Given the description of an element on the screen output the (x, y) to click on. 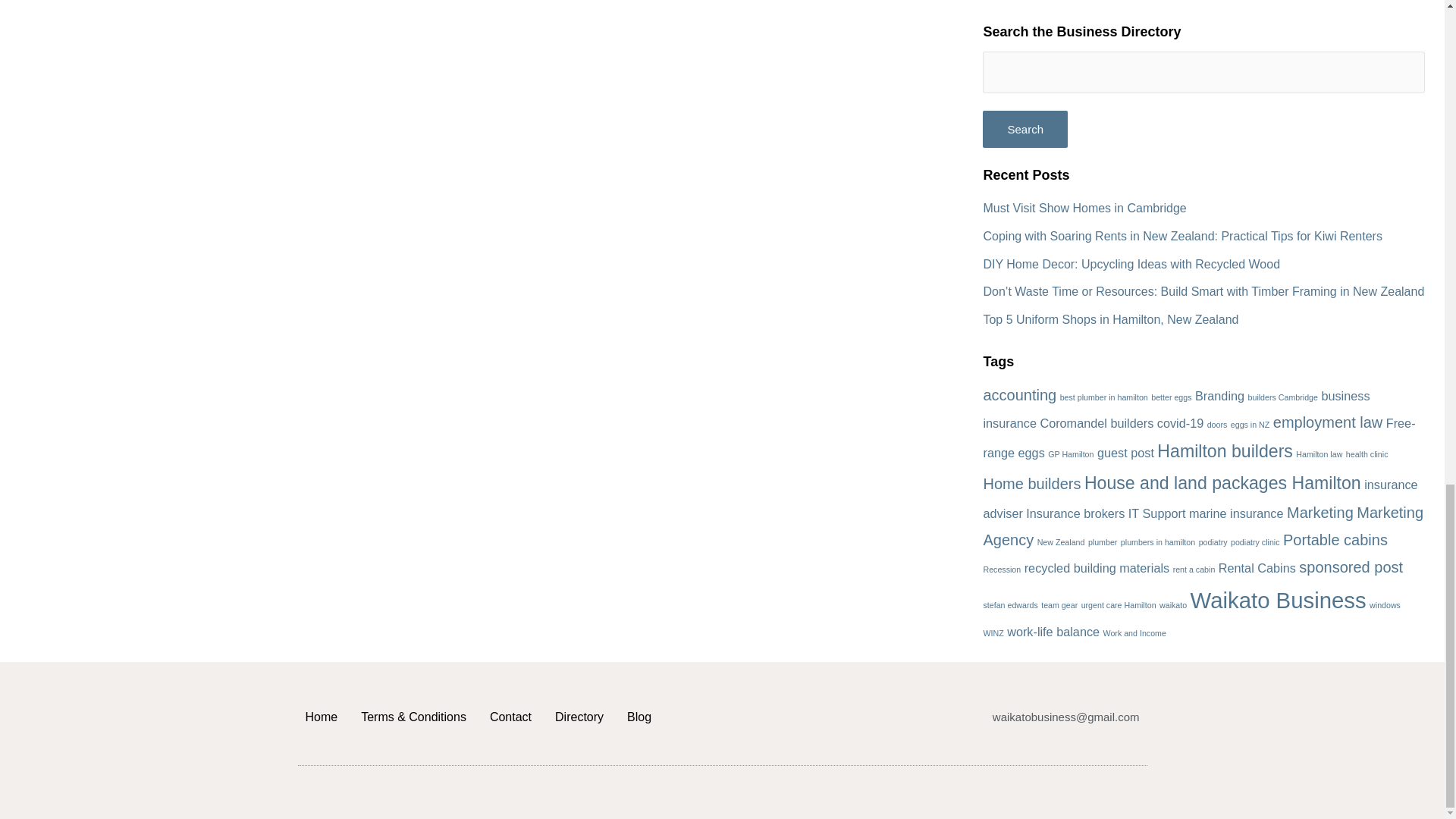
Search (1024, 129)
Search (1024, 129)
